Given the description of an element on the screen output the (x, y) to click on. 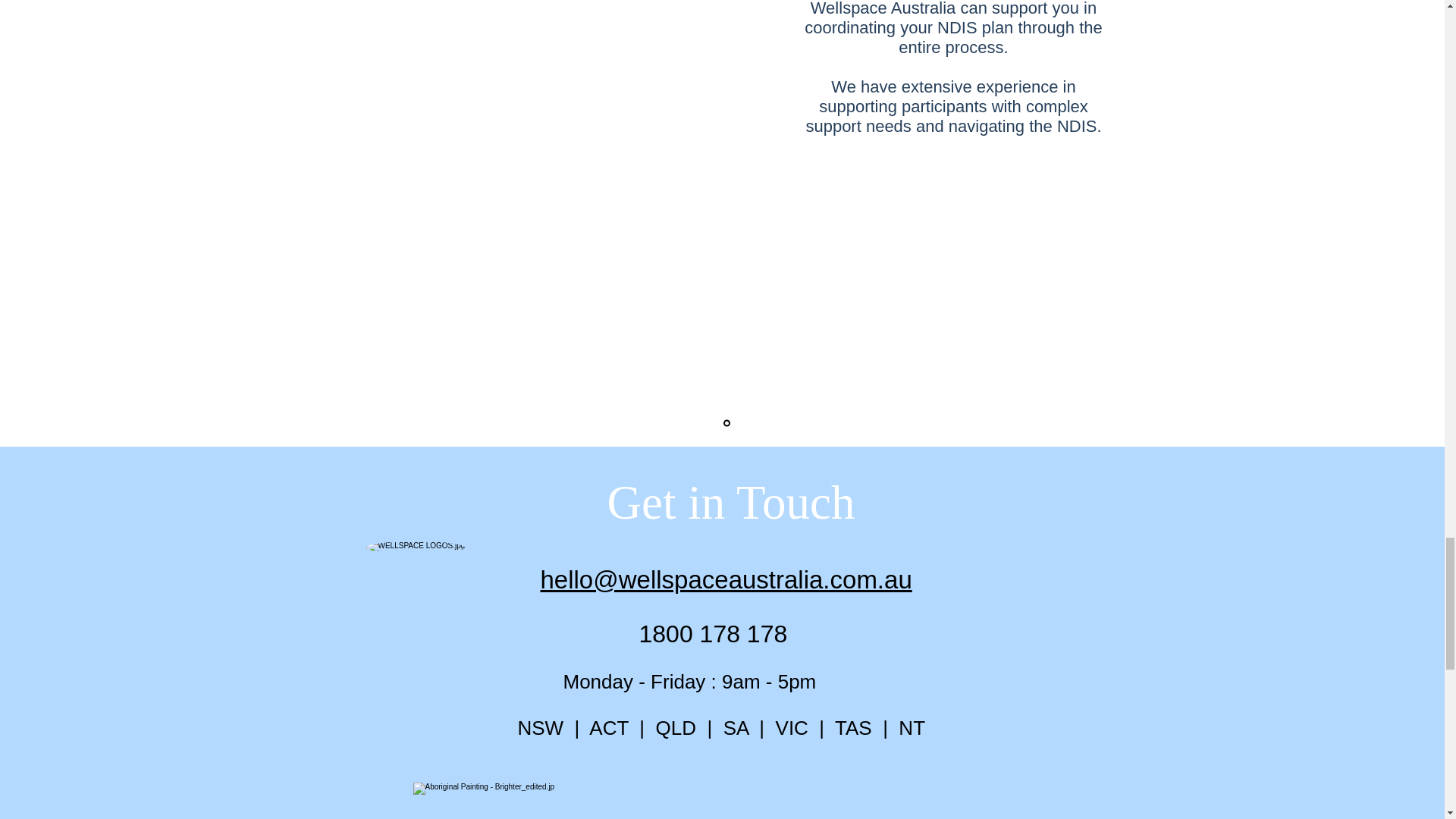
1800 178 178 (713, 633)
Monday - Friday : 9am - 5pm (688, 681)
